Given the description of an element on the screen output the (x, y) to click on. 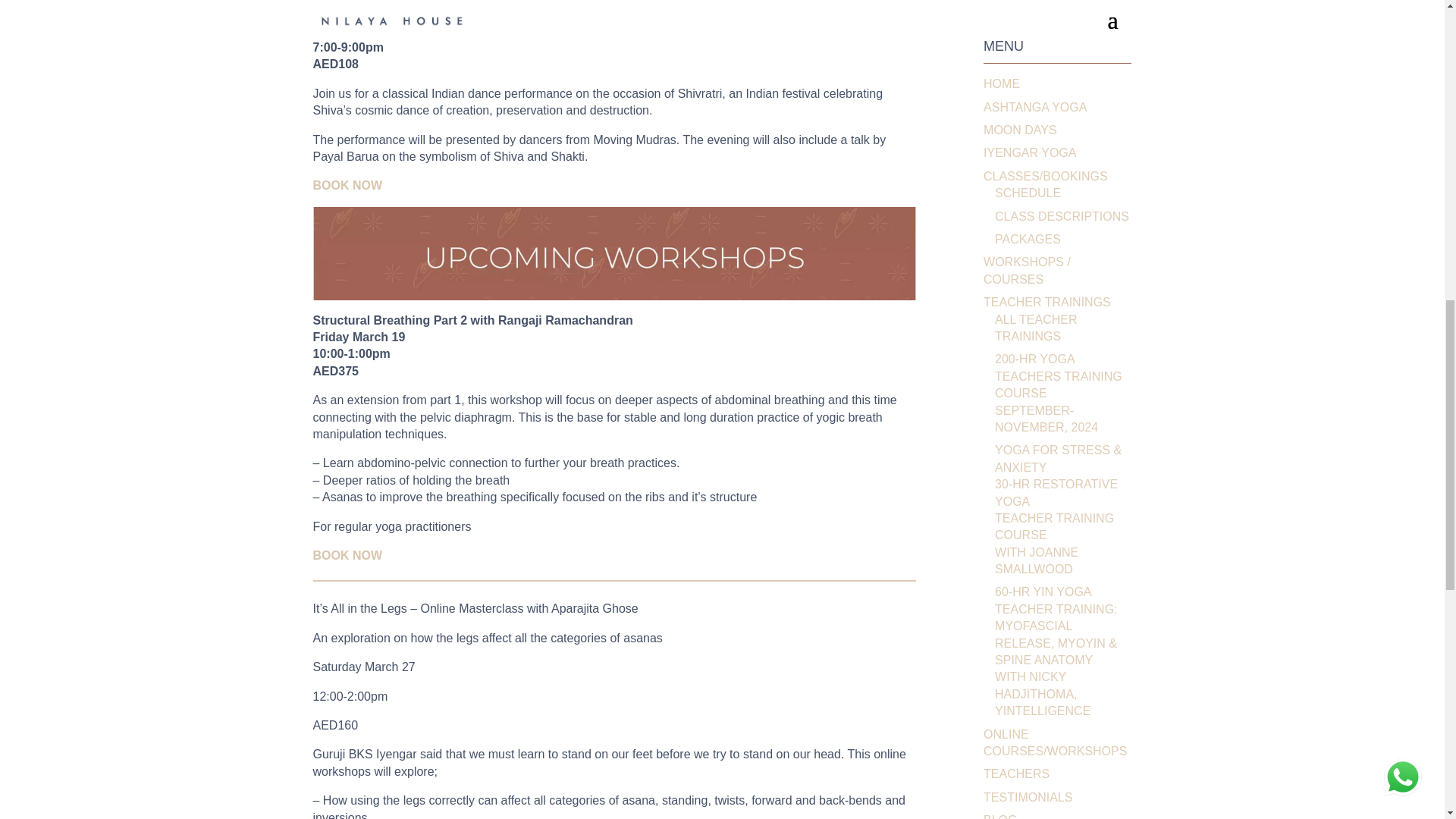
STUDENT PROFILE: SARAH WILLIAMSON (1044, 6)
BOOK NOW (347, 185)
BOOK NOW (347, 554)
